Given the description of an element on the screen output the (x, y) to click on. 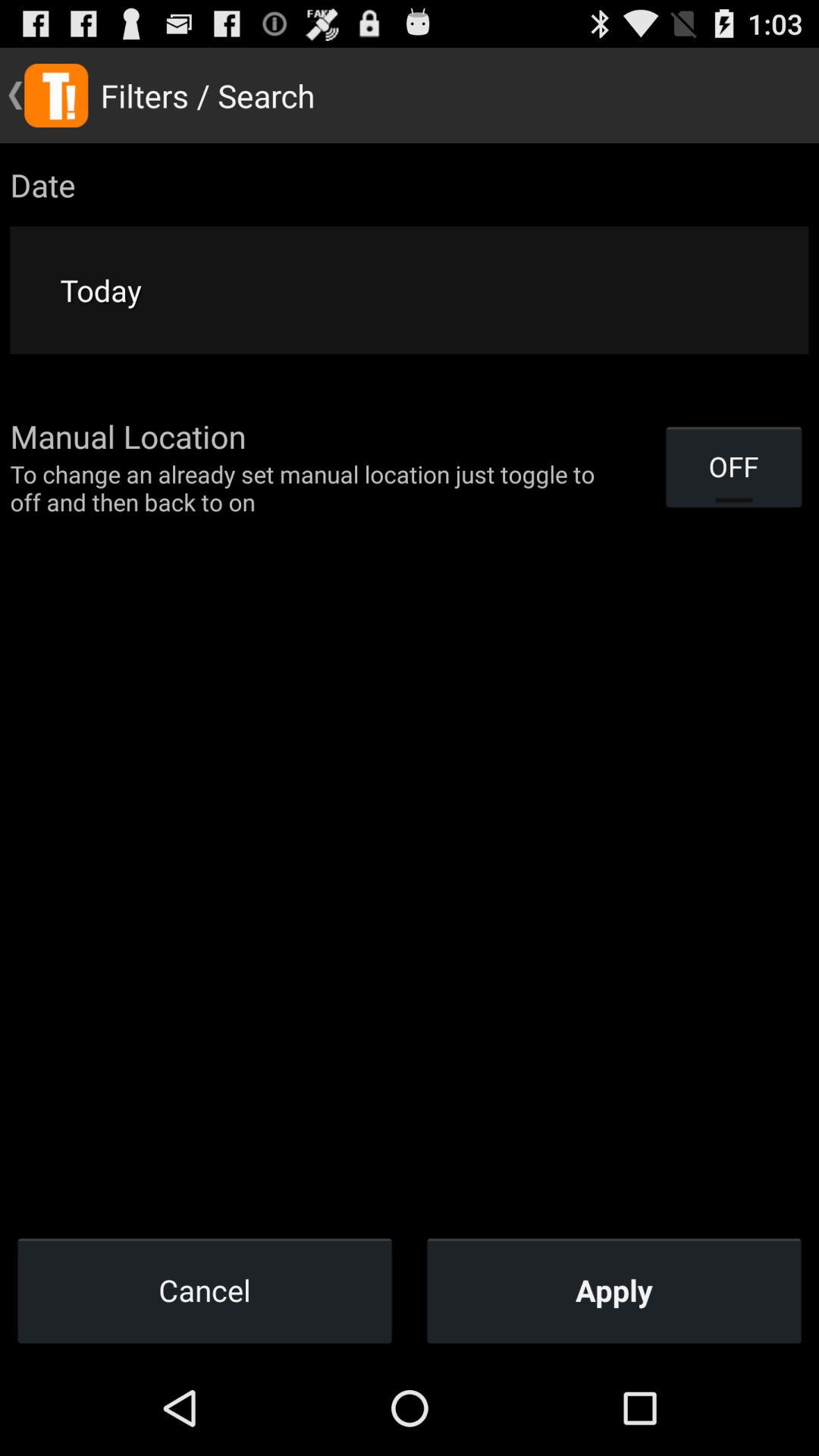
choose cancel item (204, 1290)
